Given the description of an element on the screen output the (x, y) to click on. 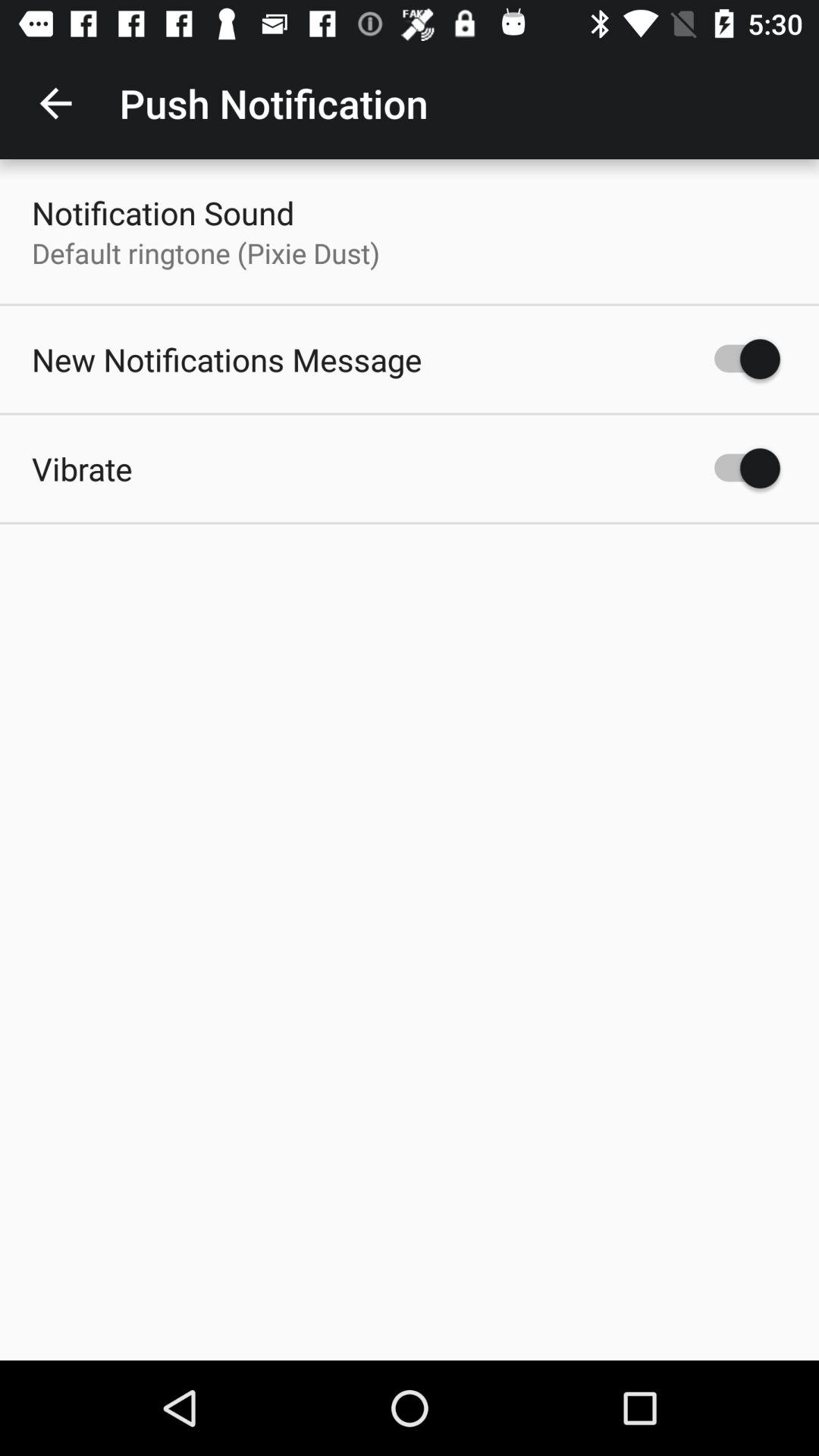
turn on the vibrate (81, 468)
